Given the description of an element on the screen output the (x, y) to click on. 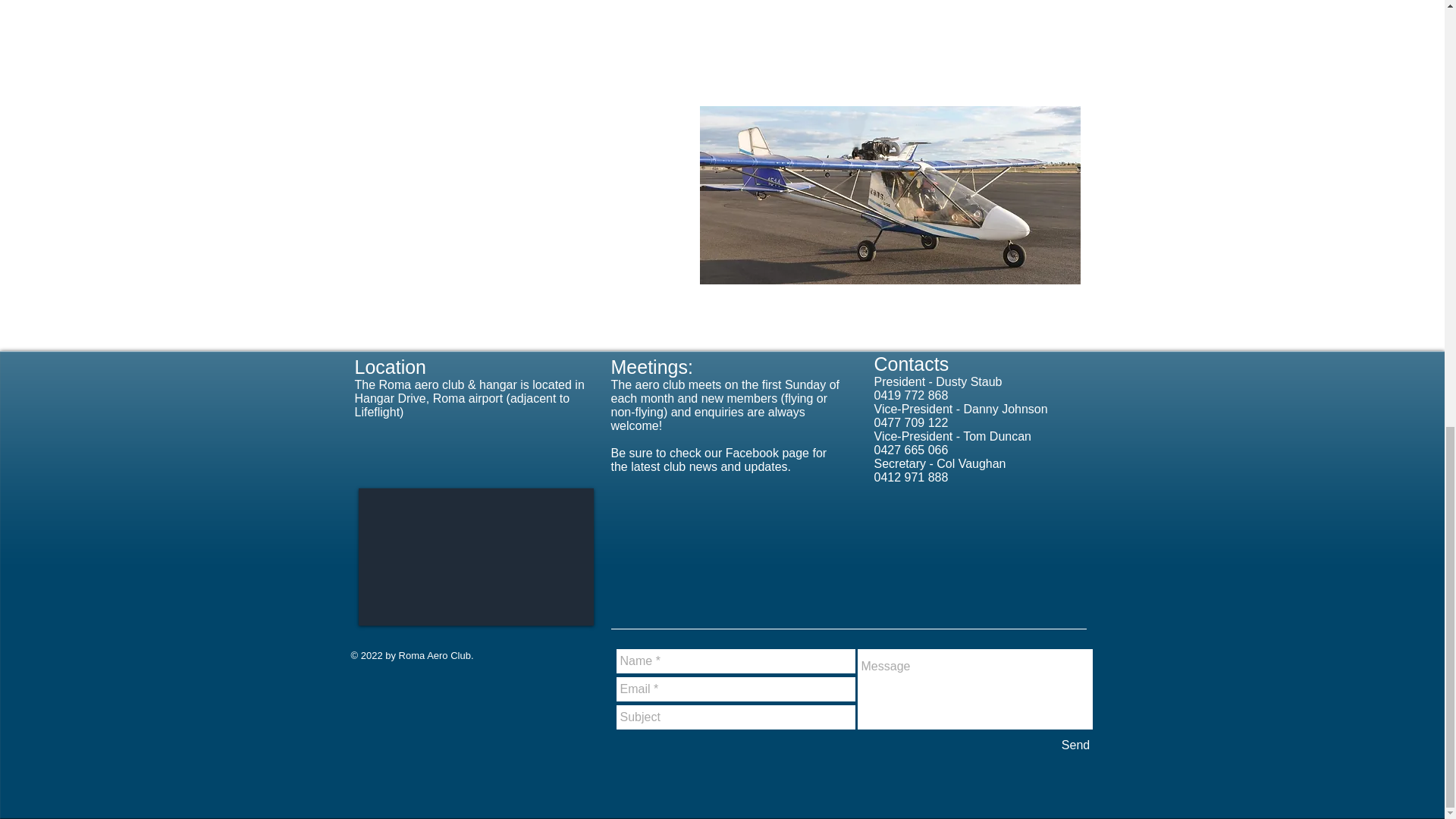
Send (1075, 745)
